Given the description of an element on the screen output the (x, y) to click on. 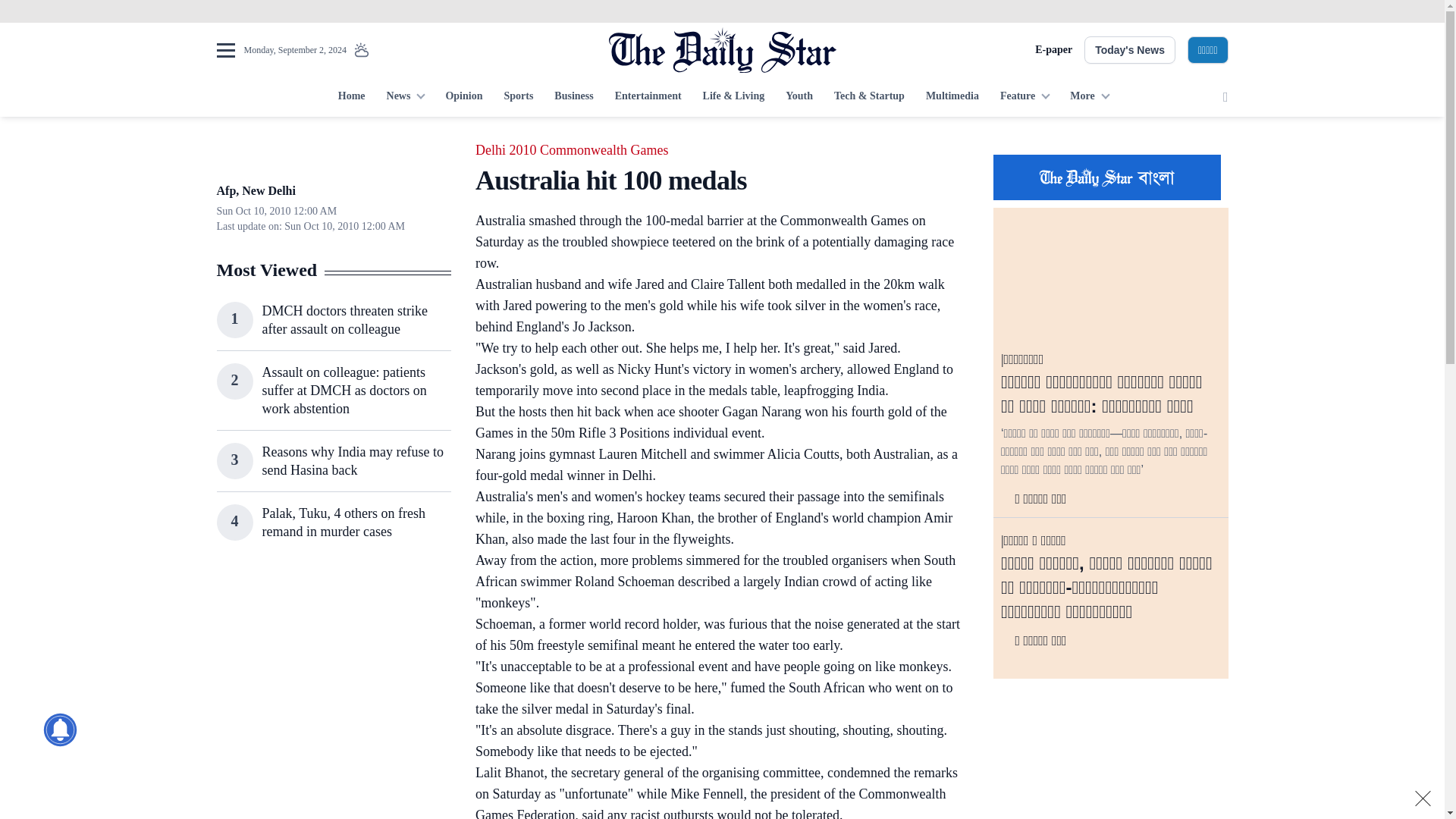
News (405, 96)
E-paper (1053, 49)
Entertainment (647, 96)
Home (351, 96)
Sports (518, 96)
Youth (799, 96)
Today's News (1129, 49)
Feature (1024, 96)
Business (573, 96)
